Given the description of an element on the screen output the (x, y) to click on. 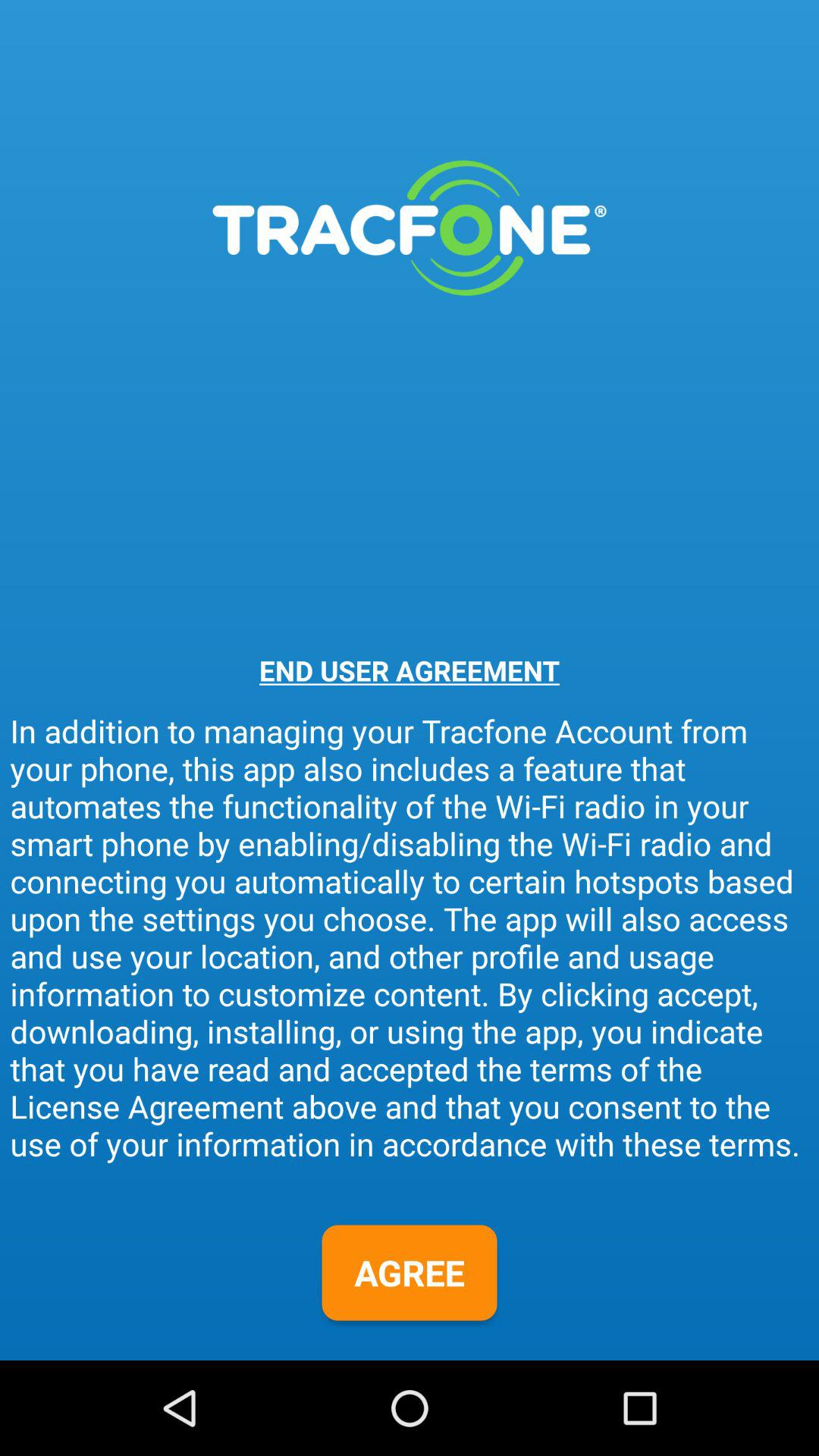
scroll to agree icon (409, 1272)
